Given the description of an element on the screen output the (x, y) to click on. 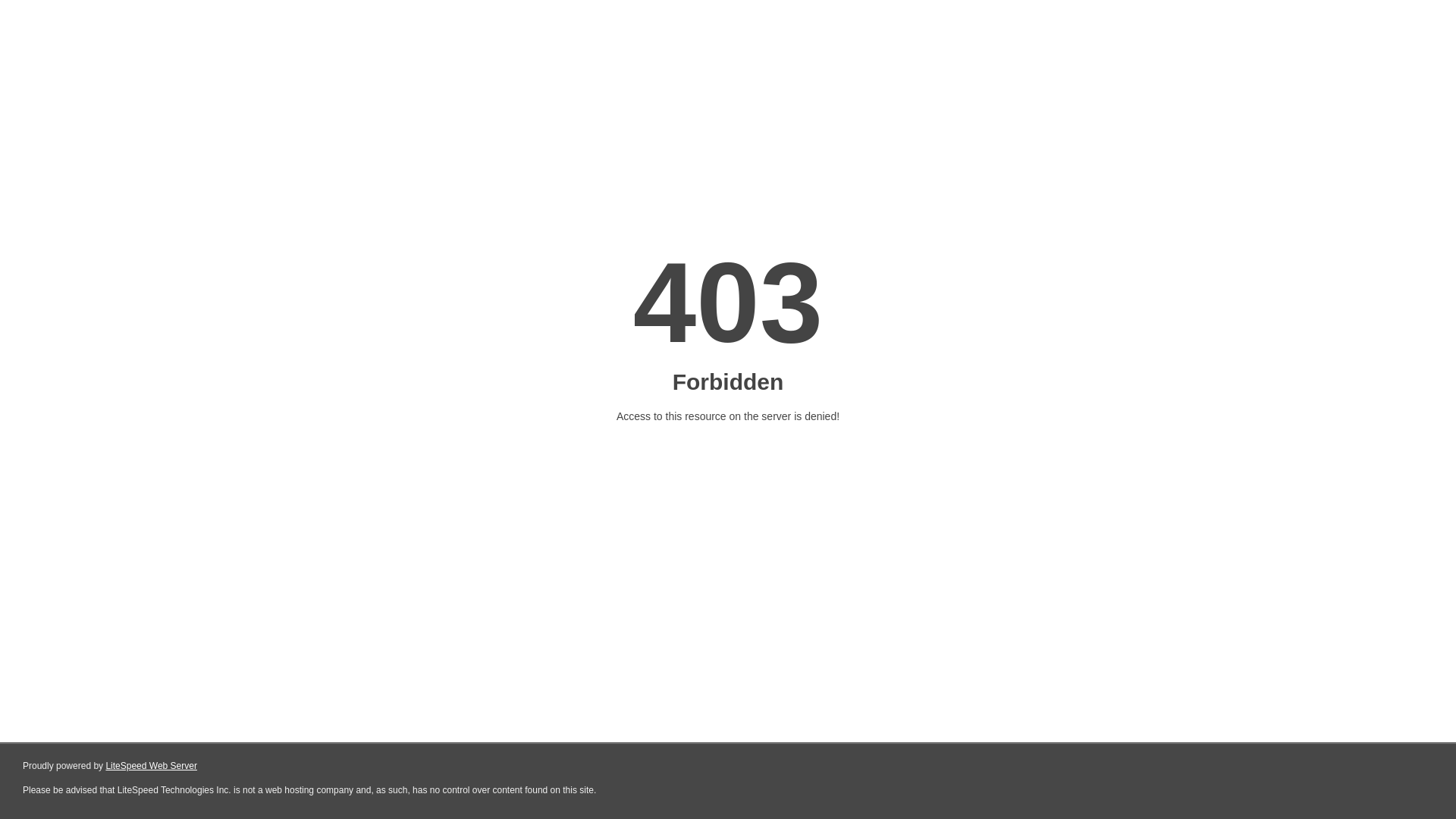
LiteSpeed Web Server Element type: text (151, 765)
